Given the description of an element on the screen output the (x, y) to click on. 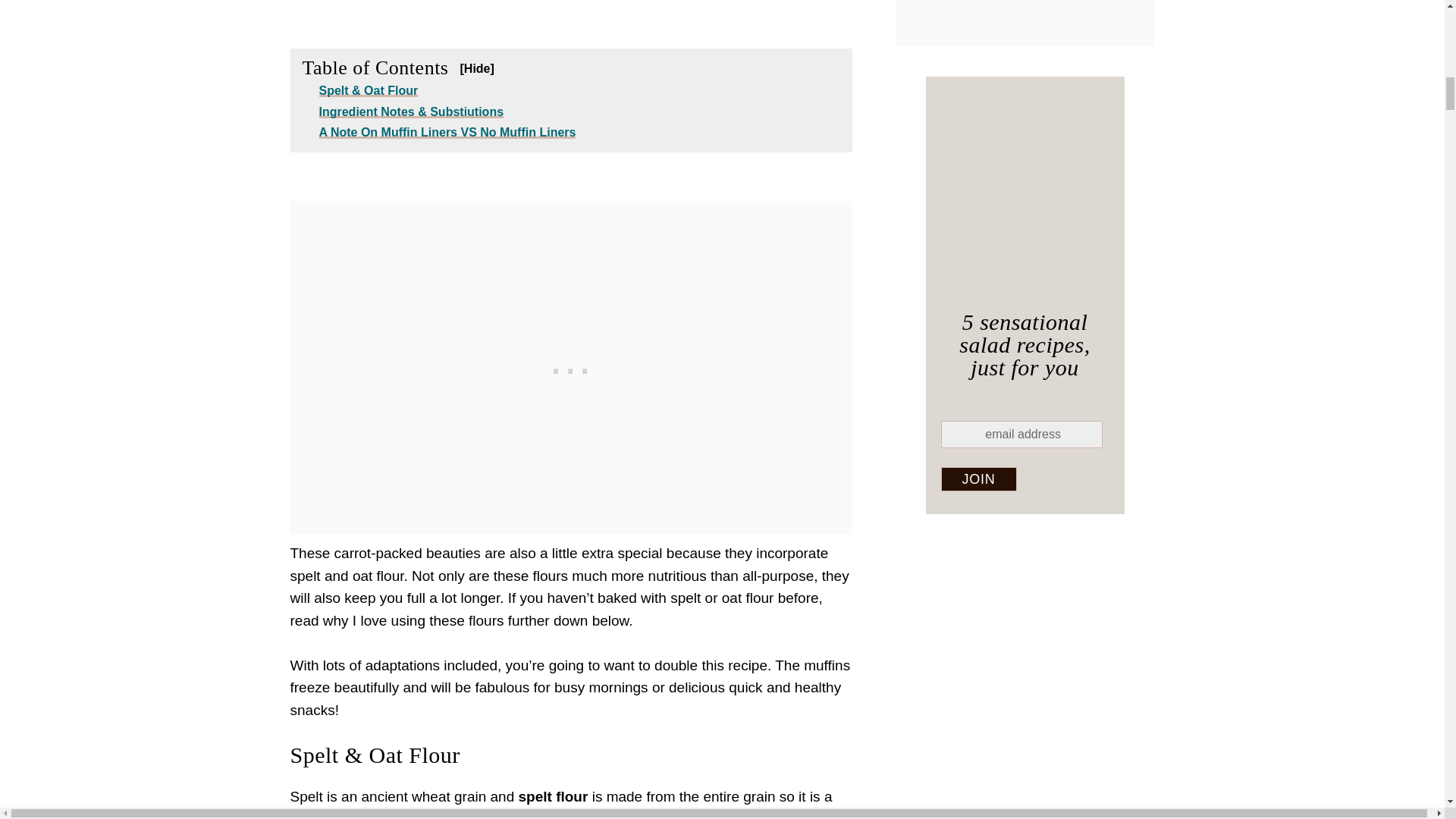
Join (978, 478)
A Note On Muffin Liners VS No Muffin Liners (446, 132)
collapse (476, 68)
